Given the description of an element on the screen output the (x, y) to click on. 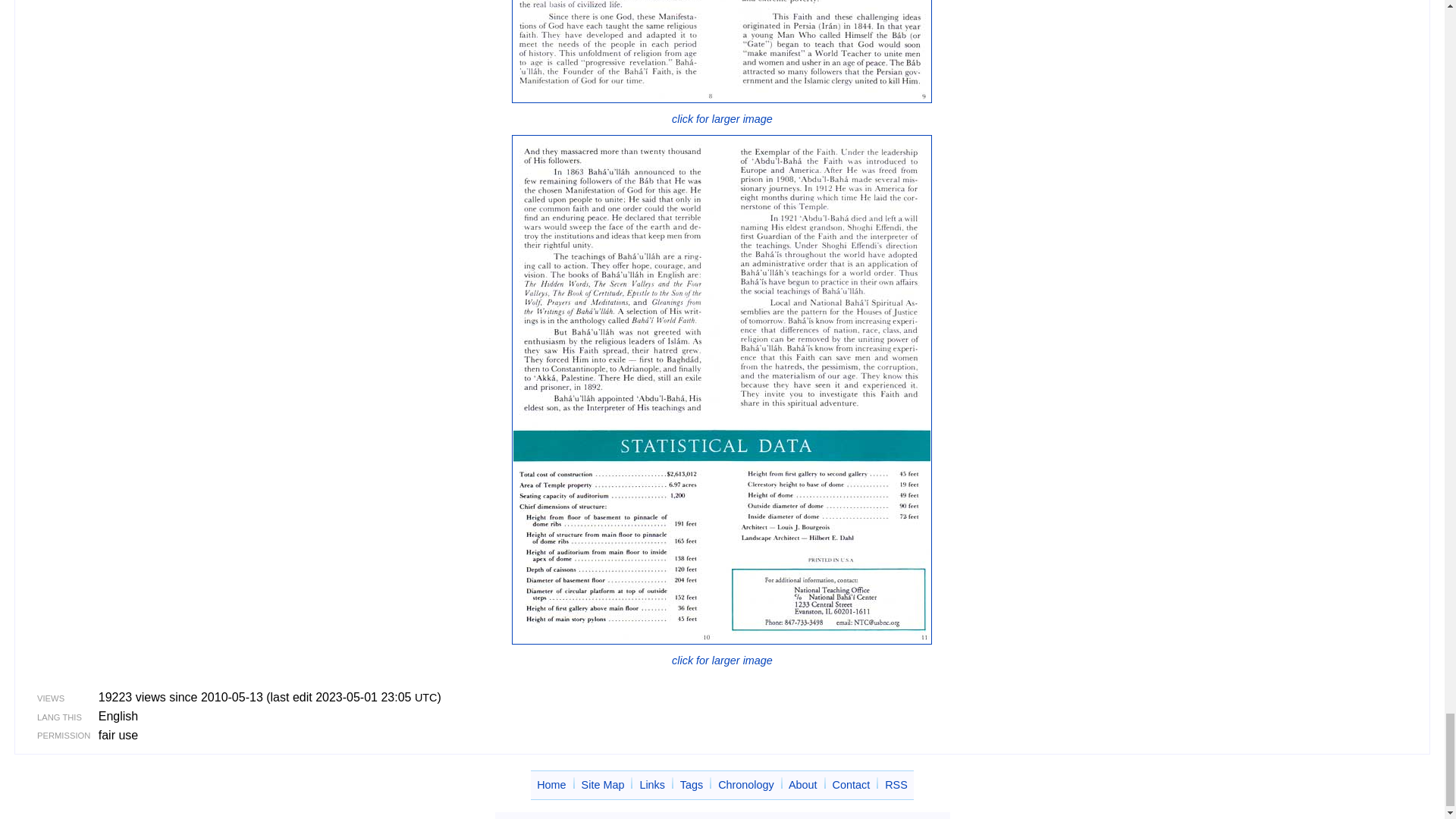
Links (652, 784)
Chronology (745, 784)
click for larger image (721, 111)
Tags (691, 784)
About (802, 784)
Contact (851, 784)
Home (551, 784)
RSS (896, 784)
click for larger image (721, 652)
Site Map (602, 784)
